Given the description of an element on the screen output the (x, y) to click on. 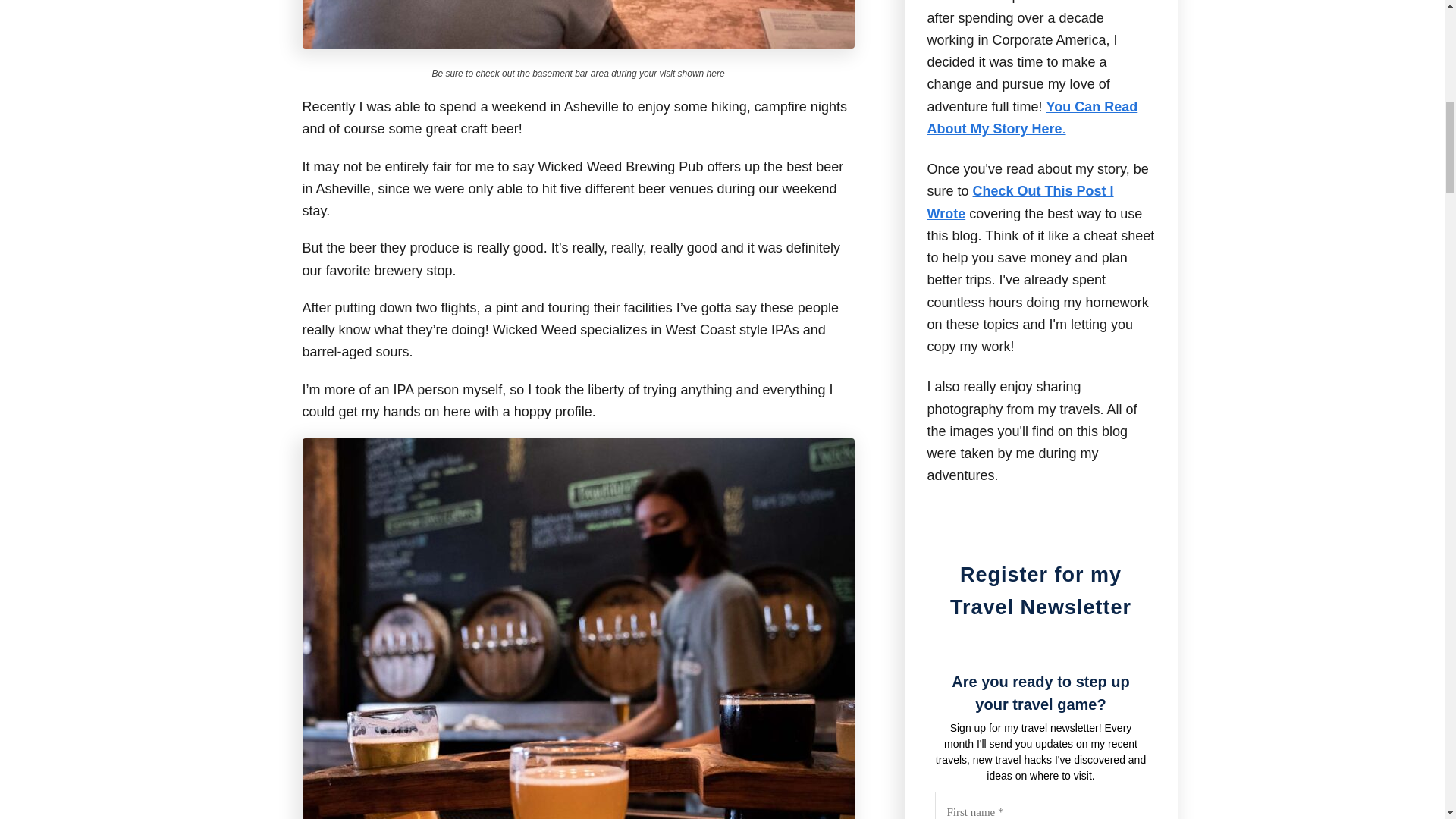
First name (1040, 805)
